Given the description of an element on the screen output the (x, y) to click on. 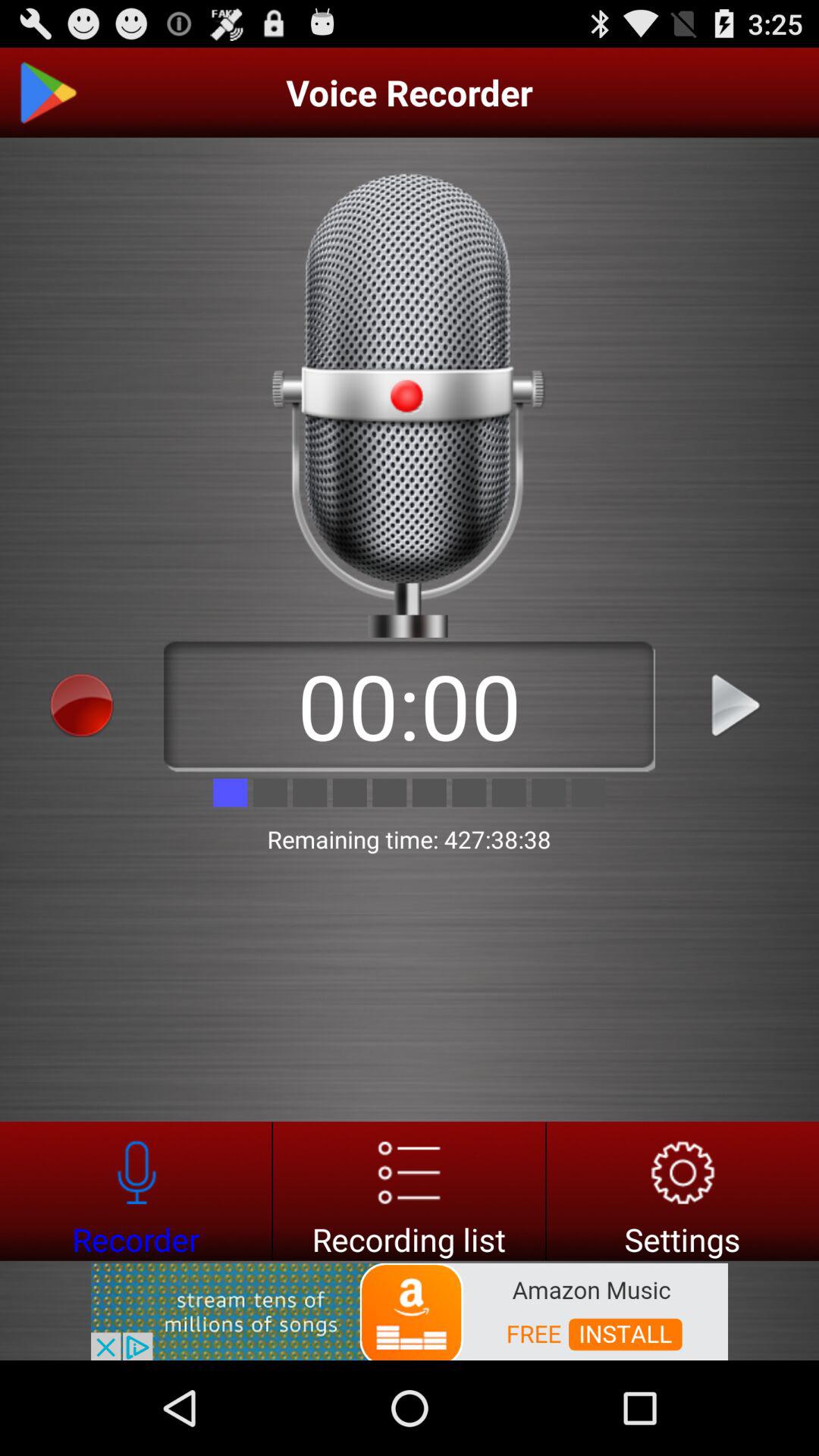
advertisement link (409, 1310)
